Given the description of an element on the screen output the (x, y) to click on. 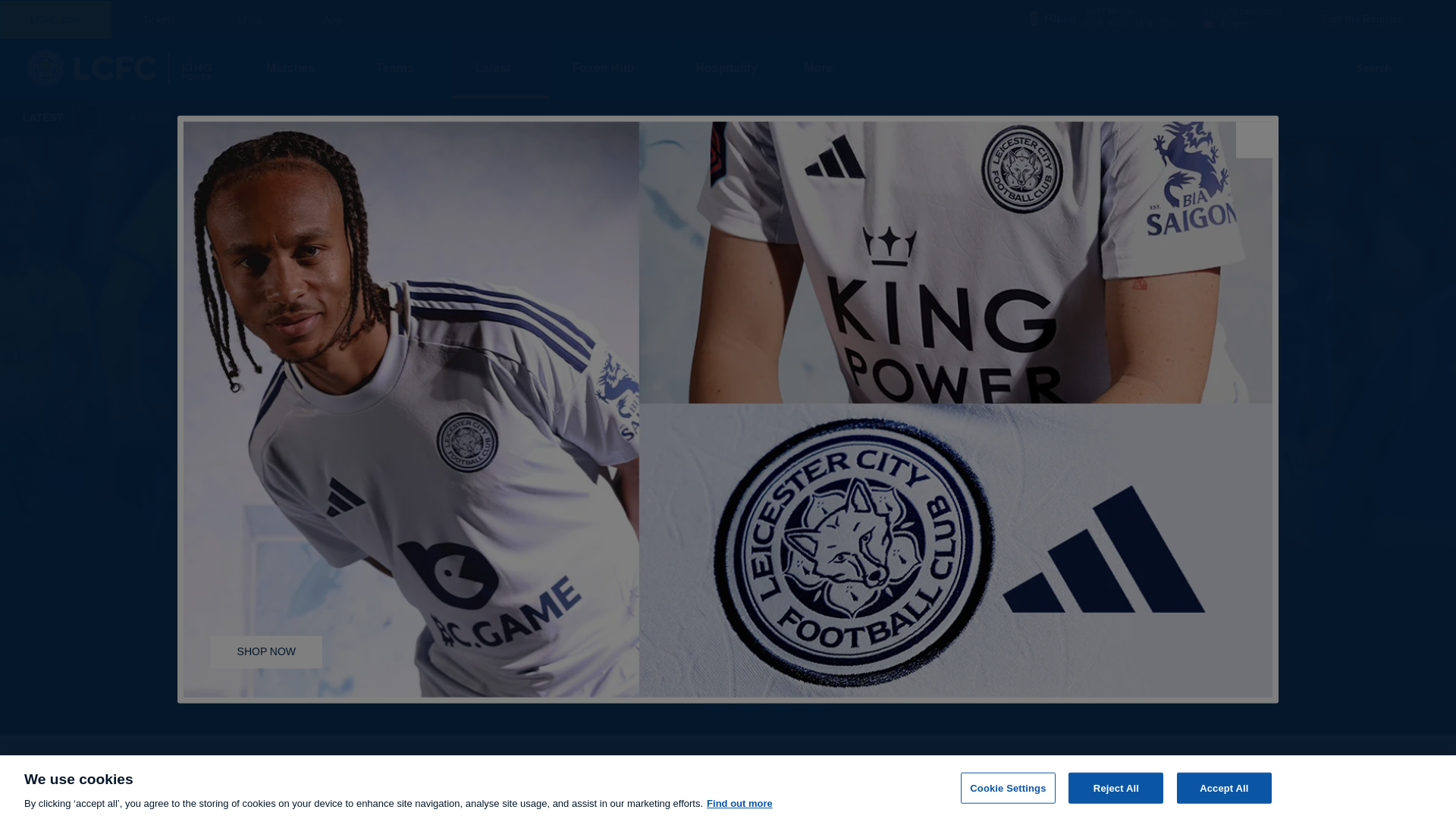
LCFC.com (56, 19)
Shop (249, 19)
App (1242, 18)
Hospitality (332, 19)
Home (726, 67)
Tickets (121, 67)
